Given the description of an element on the screen output the (x, y) to click on. 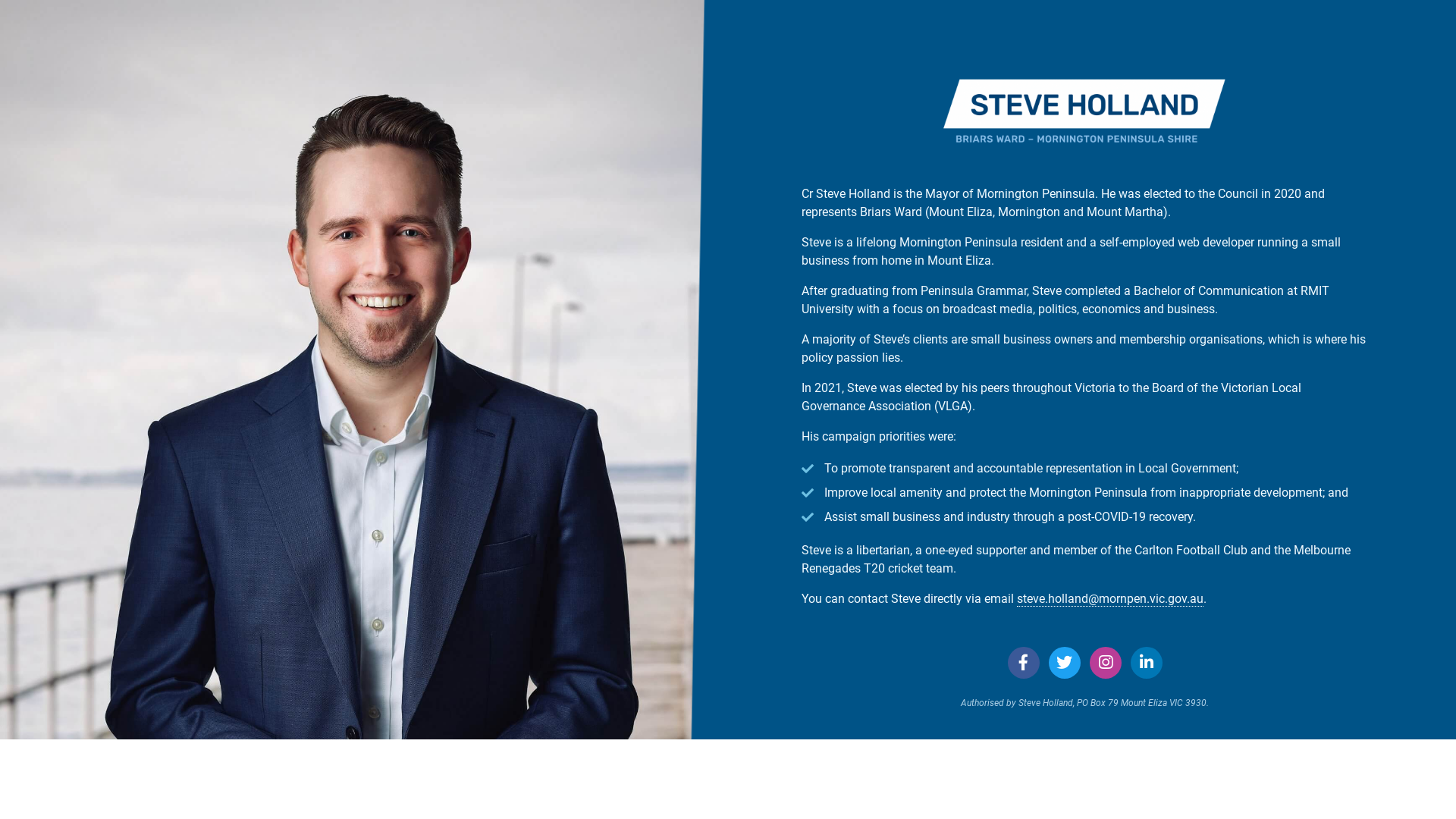
steve.holland@mornpen.vic.gov.au Element type: text (1109, 598)
